Given the description of an element on the screen output the (x, y) to click on. 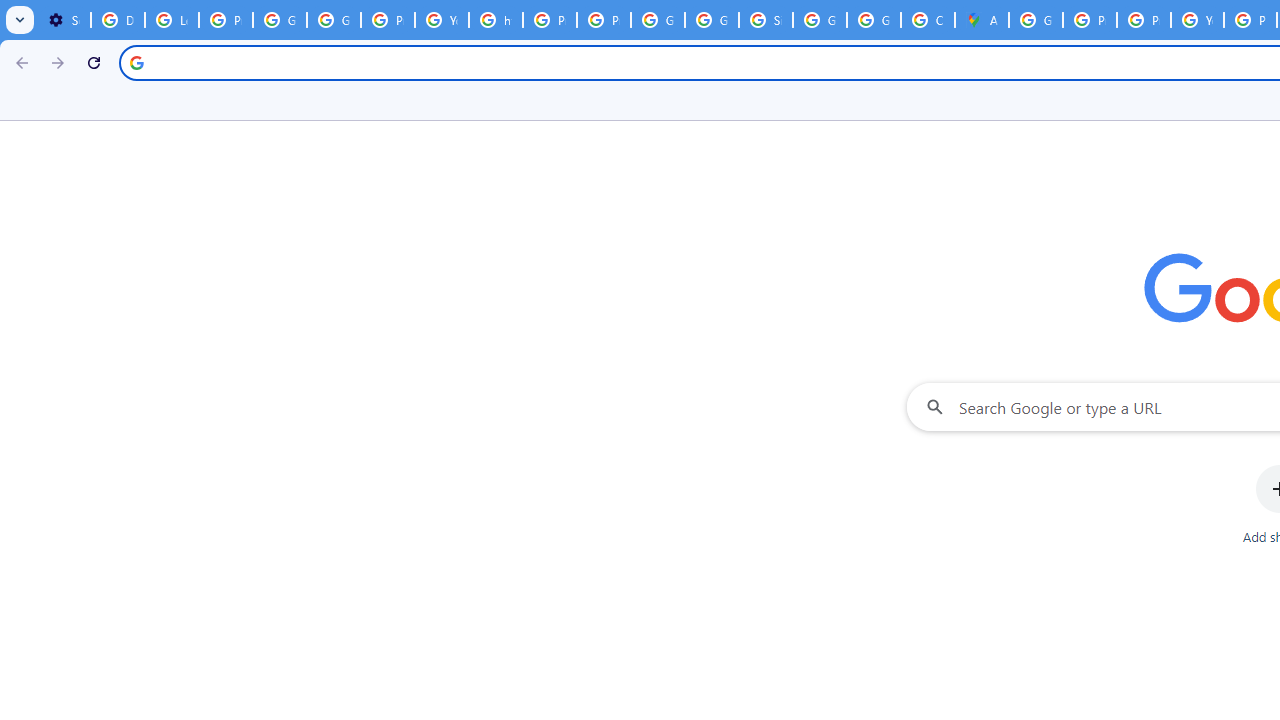
Learn how to find your photos - Google Photos Help (171, 20)
Privacy Help Center - Policies Help (1144, 20)
YouTube (441, 20)
Privacy Help Center - Policies Help (550, 20)
https://scholar.google.com/ (495, 20)
Delete photos & videos - Computer - Google Photos Help (117, 20)
Search icon (136, 62)
Google Account Help (333, 20)
Create your Google Account (927, 20)
Google Account Help (280, 20)
Sign in - Google Accounts (765, 20)
